Given the description of an element on the screen output the (x, y) to click on. 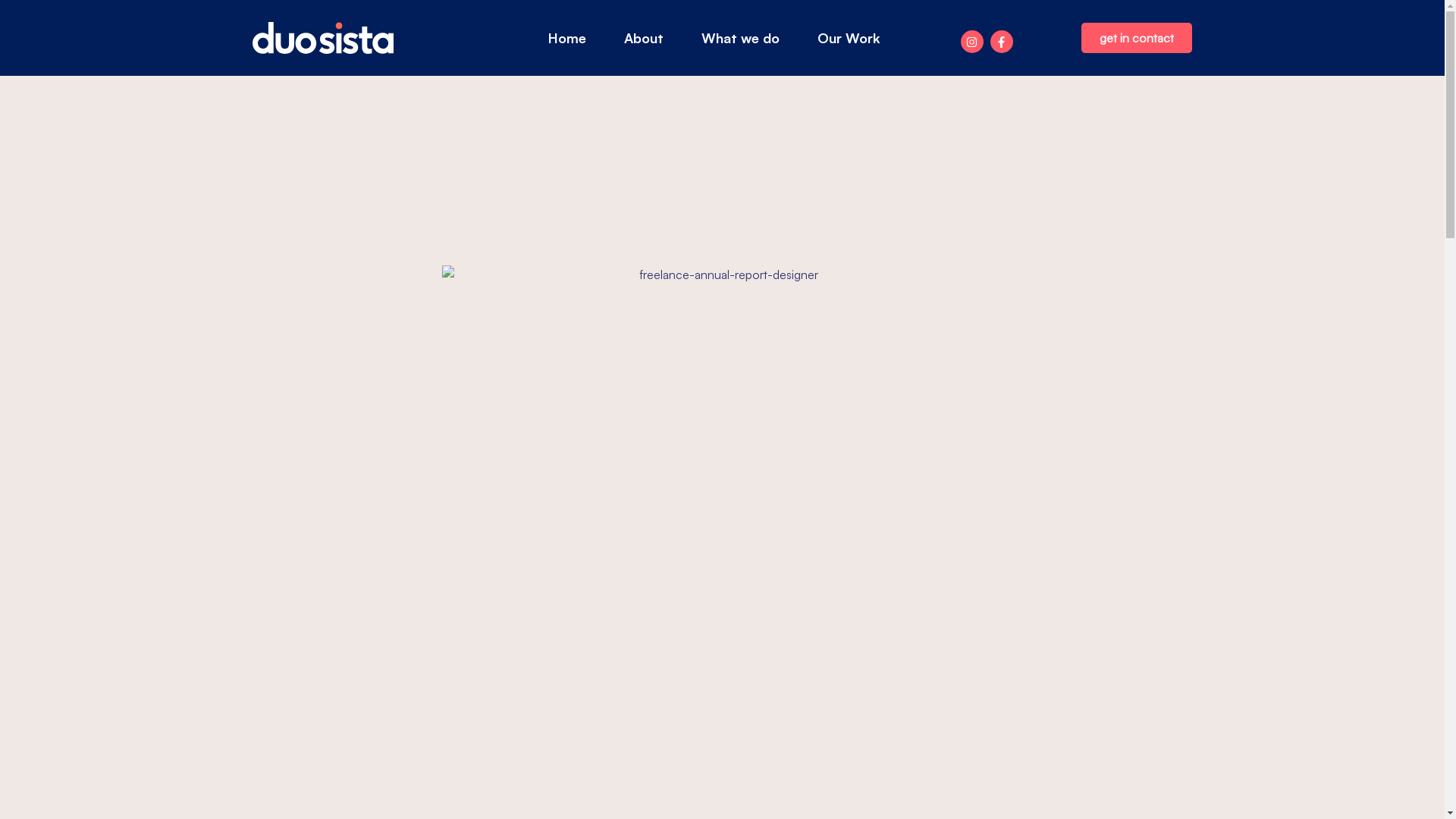
Our Work Element type: text (848, 37)
Home Element type: text (566, 37)
What we do Element type: text (740, 37)
get in contact Element type: text (1136, 37)
About Element type: text (643, 37)
